Given the description of an element on the screen output the (x, y) to click on. 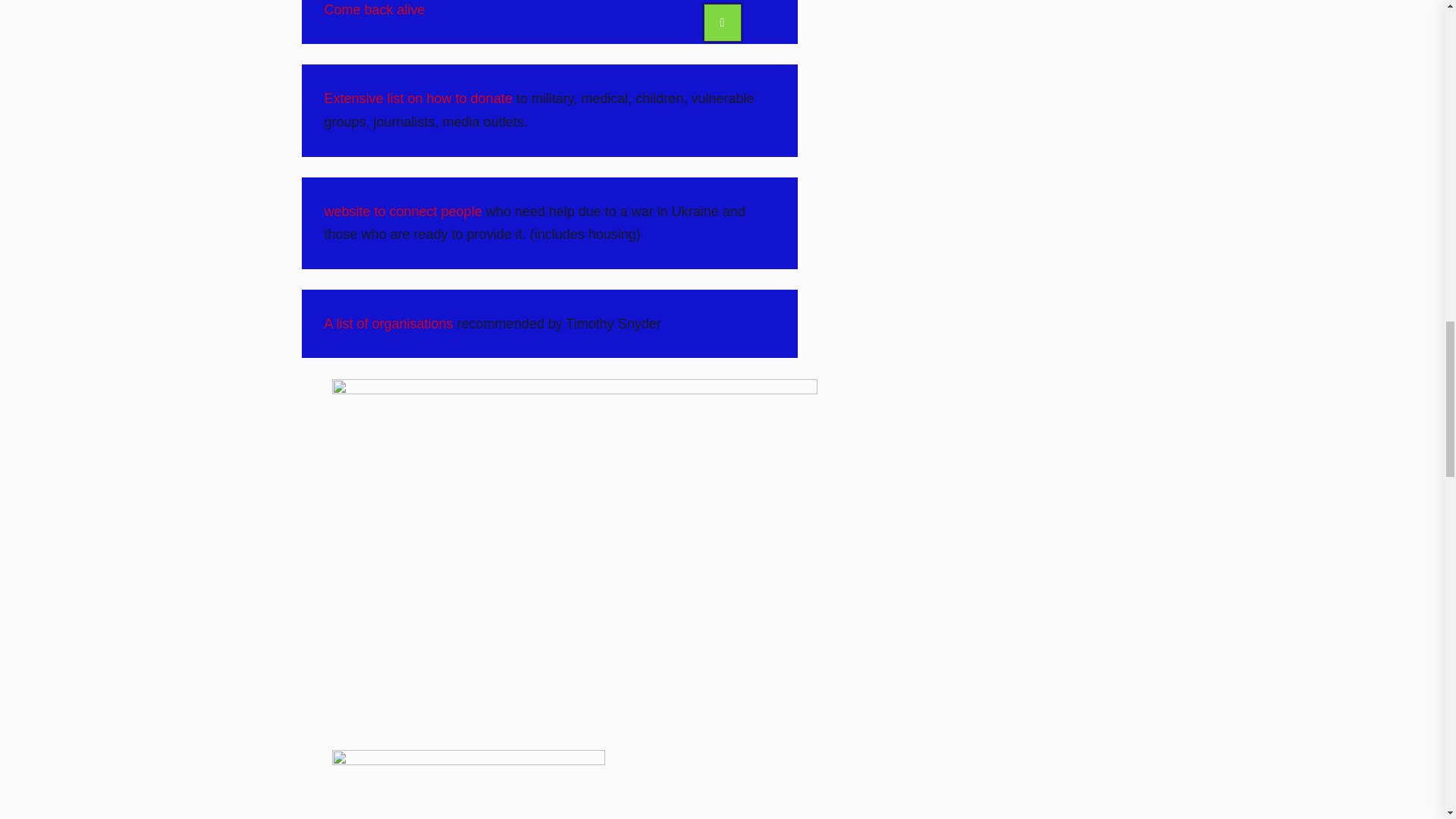
website to connect people (402, 211)
Extensive list on how to donate (418, 98)
Come back alive (374, 9)
A list of organisations (388, 323)
